Given the description of an element on the screen output the (x, y) to click on. 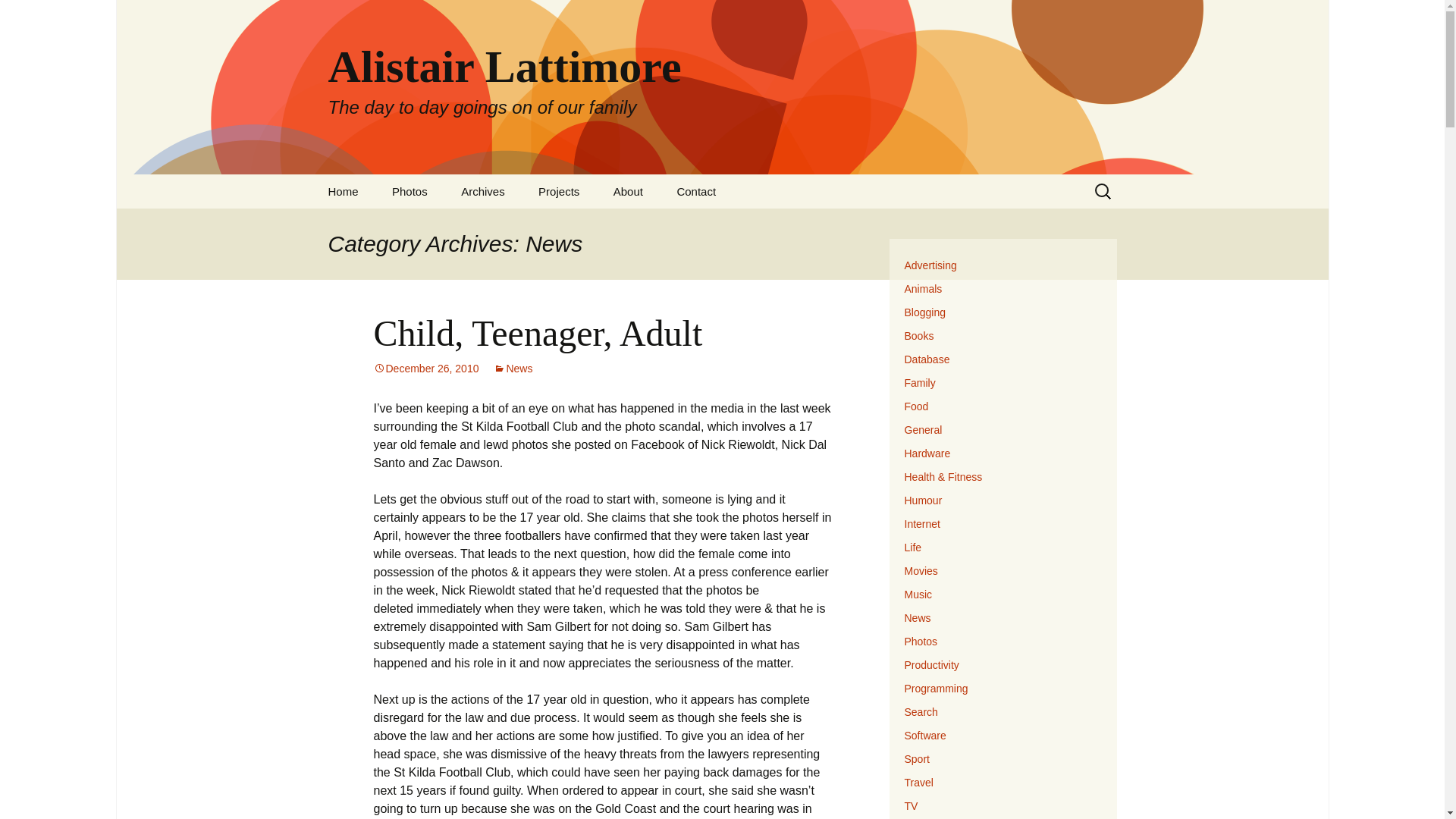
December 26, 2010 (425, 368)
Blogging (924, 312)
Advertising (930, 265)
Contact (695, 191)
Photos (409, 191)
Search (18, 15)
News (512, 368)
Child, Teenager, Adult (536, 332)
